Given the description of an element on the screen output the (x, y) to click on. 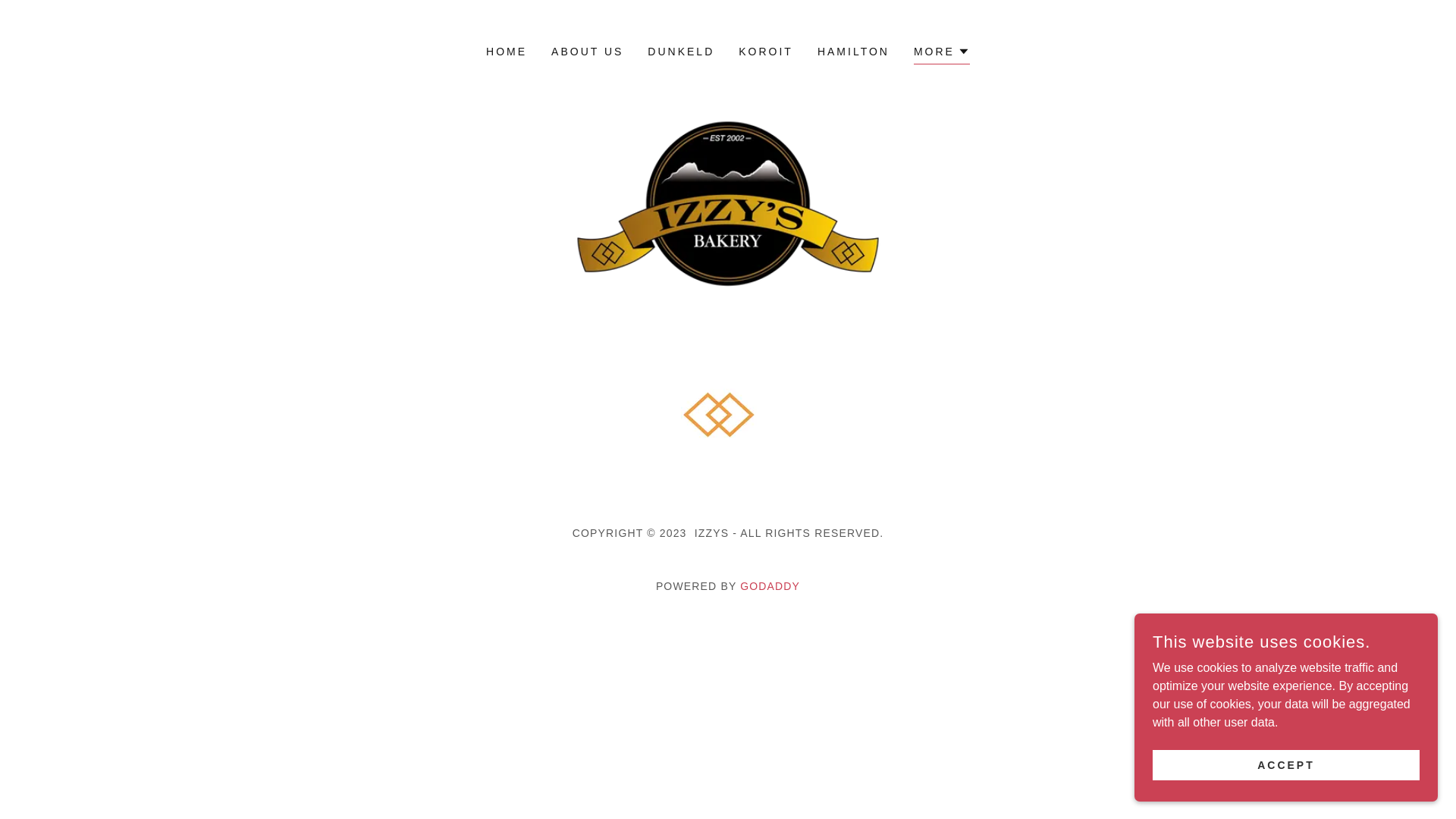
DUNKELD Element type: text (680, 51)
MORE Element type: text (941, 53)
ACCEPT Element type: text (1285, 764)
KOROIT Element type: text (765, 51)
HAMILTON Element type: text (853, 51)
ABOUT US Element type: text (586, 51)
GODADDY Element type: text (770, 586)
HOME Element type: text (506, 51)
